Given the description of an element on the screen output the (x, y) to click on. 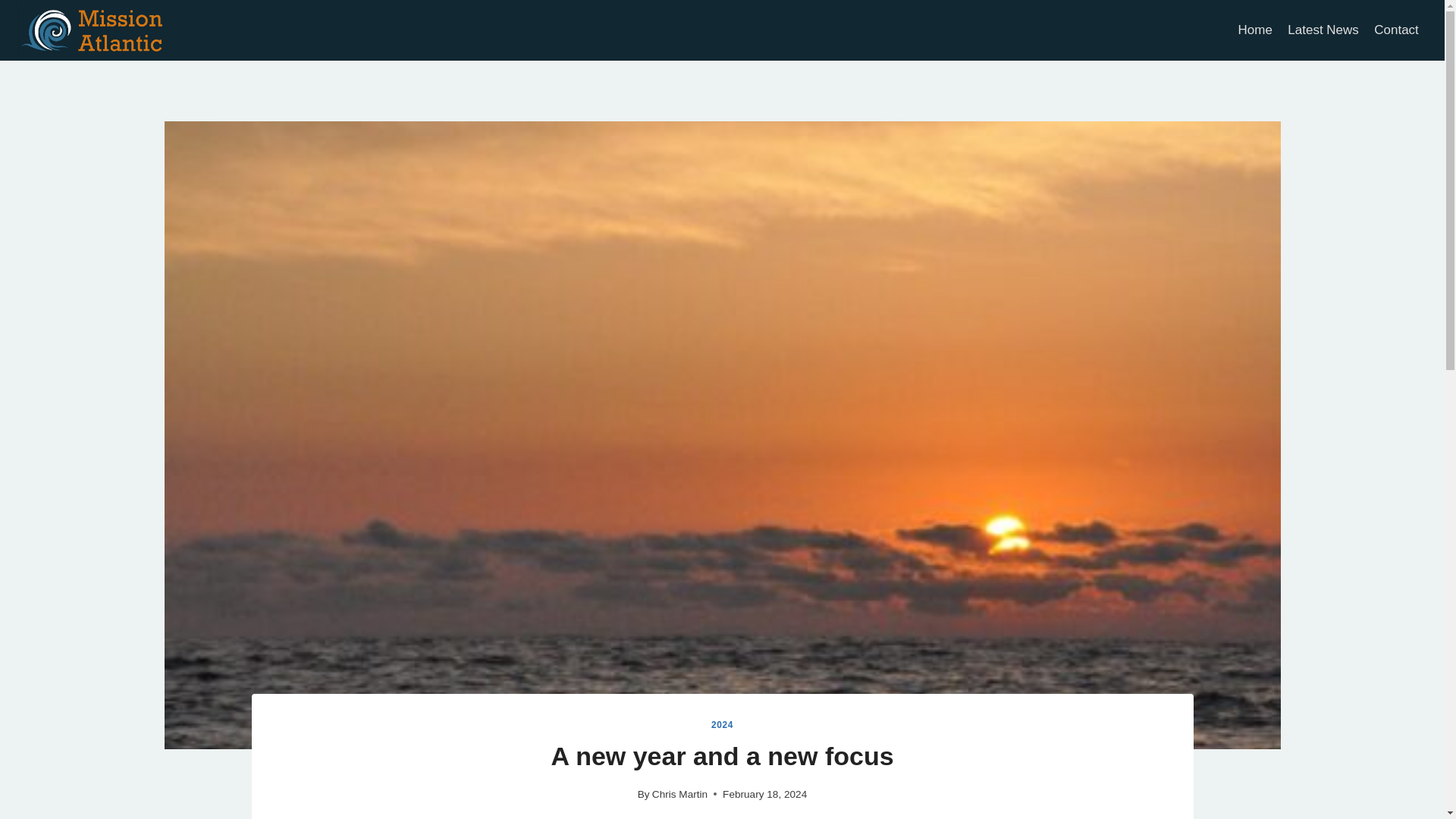
Contact (1396, 30)
Chris Martin (679, 794)
2024 (722, 724)
Home (1254, 30)
Latest News (1323, 30)
